Given the description of an element on the screen output the (x, y) to click on. 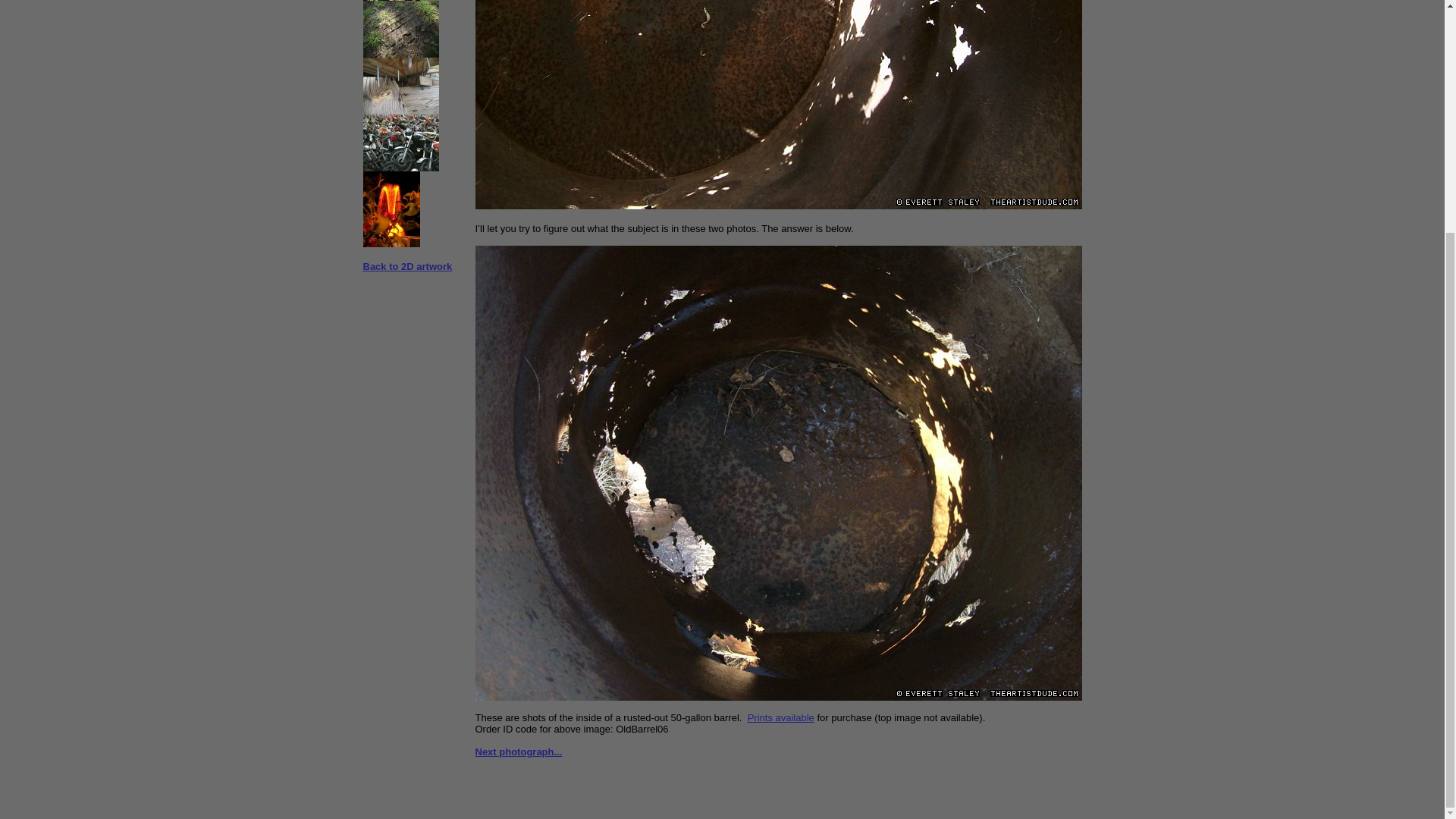
Prints available (780, 717)
Back to 2D artwork (406, 266)
Next photograph... (518, 751)
